Given the description of an element on the screen output the (x, y) to click on. 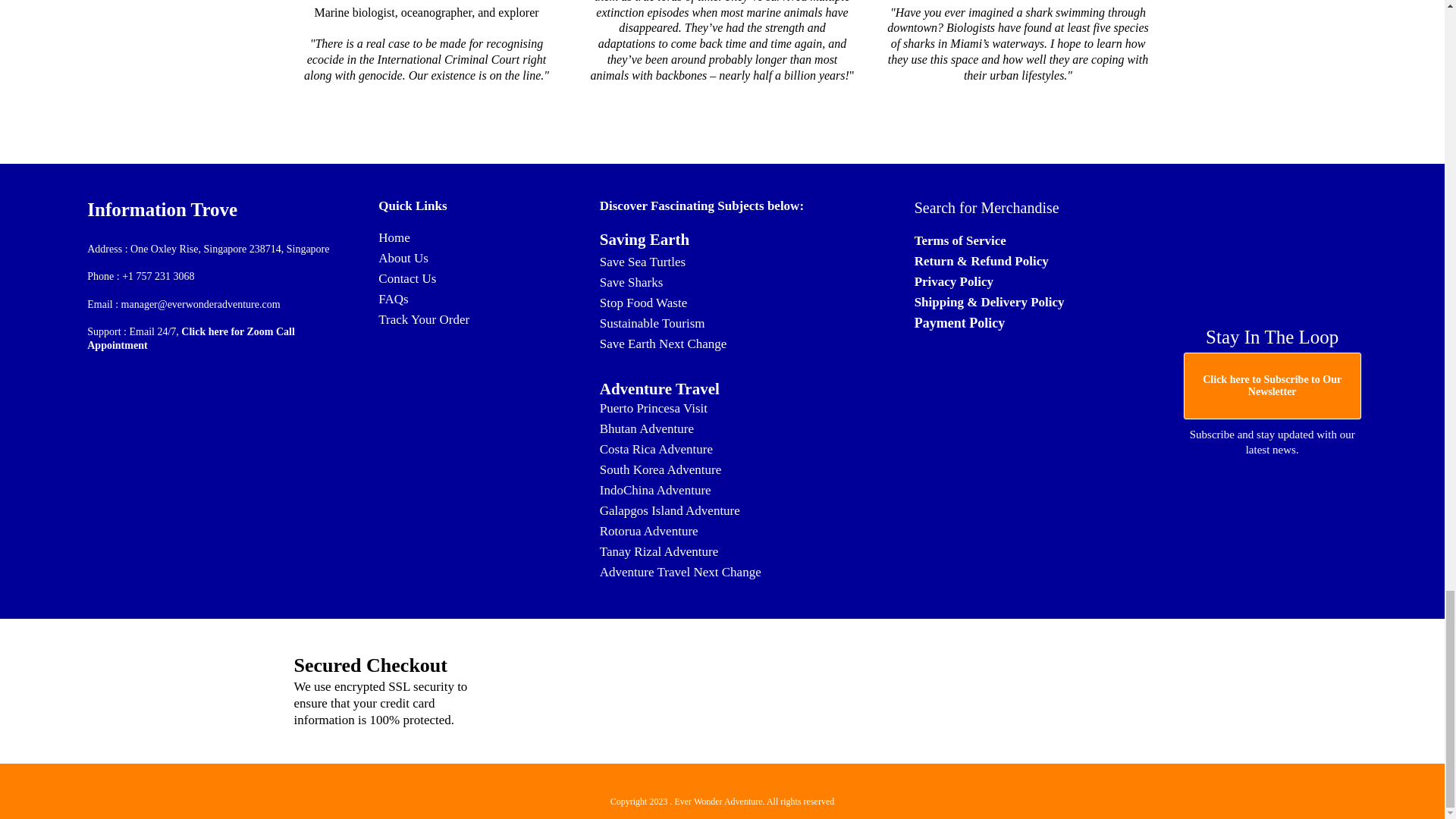
Save Sea Turtle (640, 261)
Privacy Policy (953, 281)
Click here for Zoom Call Appointment (191, 338)
South Korea Adventure (660, 469)
Adventure Travel Next Change (680, 572)
Save Sharks (631, 282)
Terms of Service (960, 240)
Costa Rica Adventure (656, 449)
FAQs (392, 298)
Payment Policy (959, 322)
Click here to Subscribe to Our Newsletter (1272, 385)
Sustainable Tourism (651, 323)
Galapgos Island Adventure (669, 510)
Track Your Order (423, 319)
Puerto Princesa Visit (653, 408)
